Given the description of an element on the screen output the (x, y) to click on. 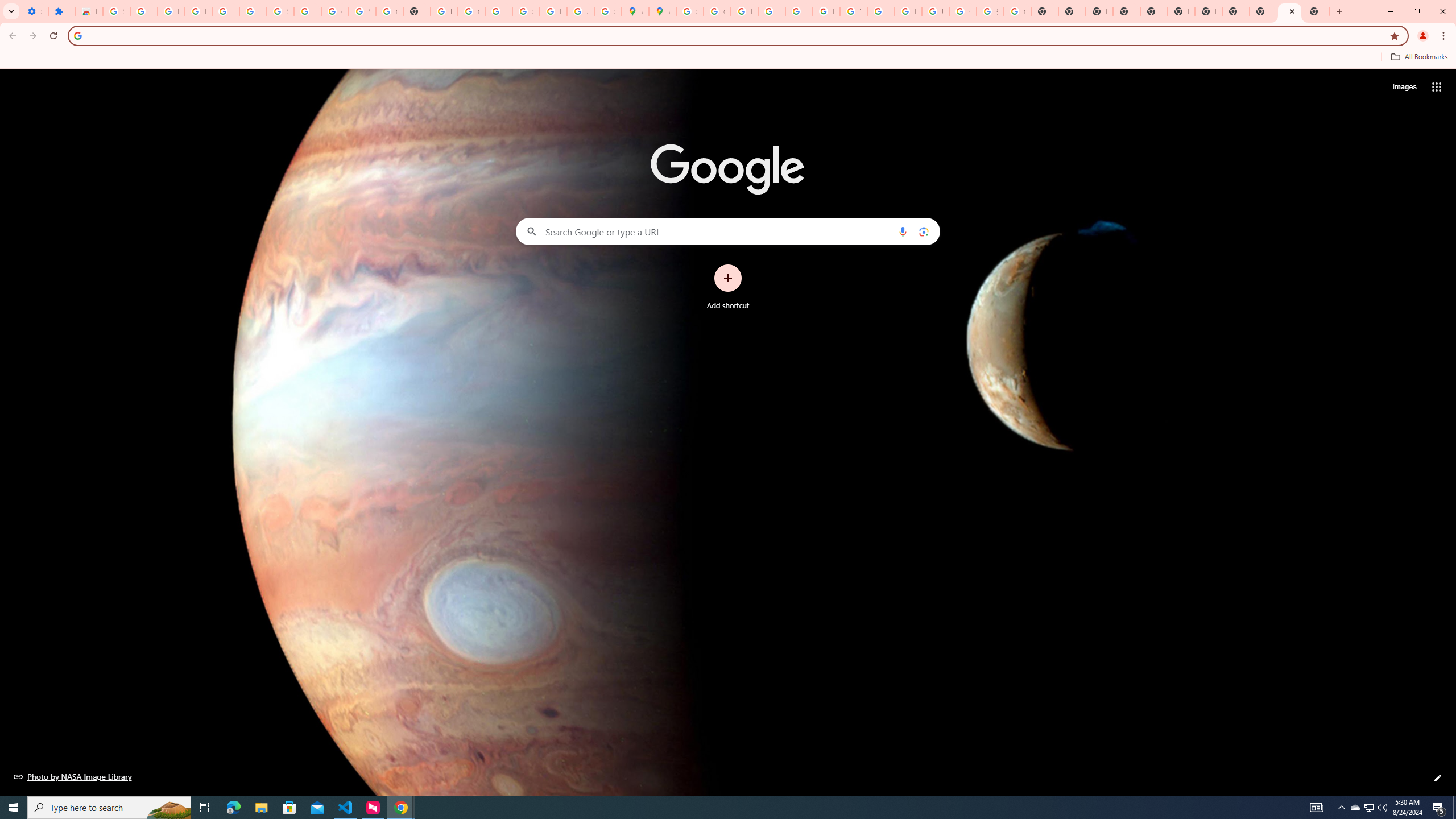
Privacy Help Center - Policies Help (771, 11)
Sign in - Google Accounts (280, 11)
Sign in - Google Accounts (116, 11)
Delete photos & videos - Computer - Google Photos Help (197, 11)
Google Images (1017, 11)
